Given the description of an element on the screen output the (x, y) to click on. 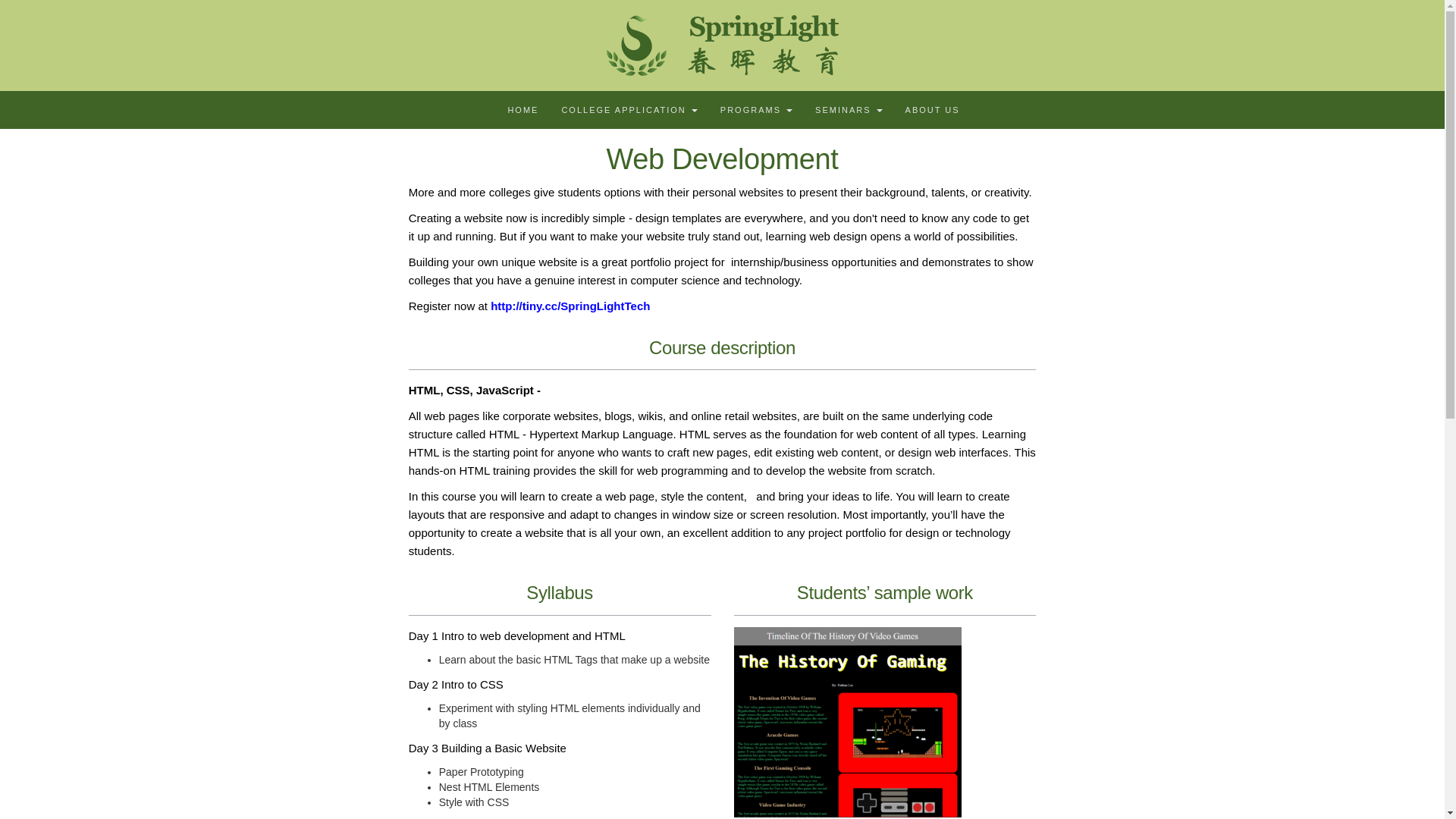
HOME (523, 109)
Seminars (848, 109)
COLLEGE APPLICATION (628, 109)
About Us (932, 109)
ABOUT US (932, 109)
Programs (756, 109)
SEMINARS (848, 109)
PROGRAMS (756, 109)
Home (523, 109)
College Application (628, 109)
